Given the description of an element on the screen output the (x, y) to click on. 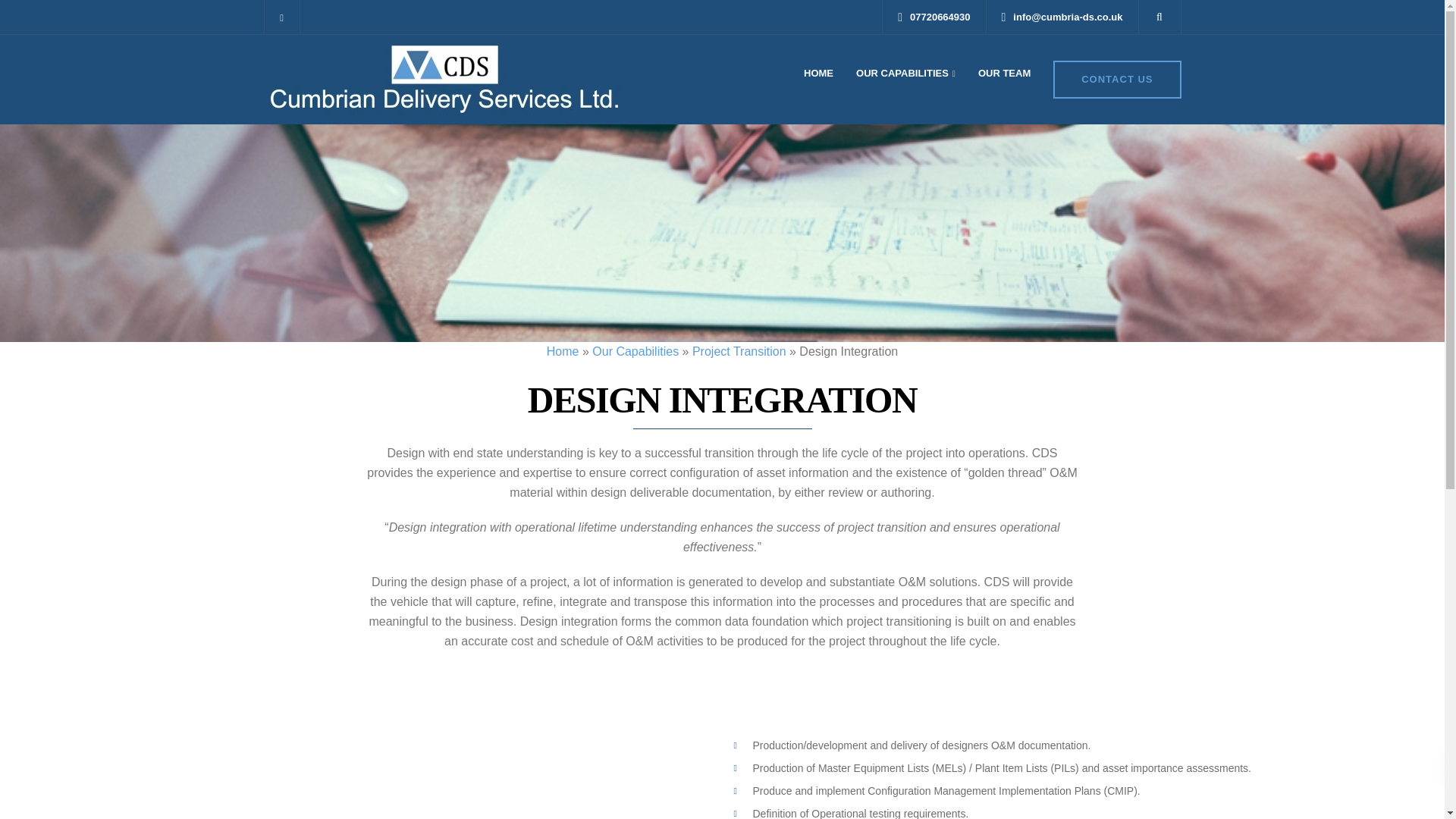
07720664930 (944, 16)
OUR CAPABILITIES (905, 73)
Our Capabilities (905, 73)
Project Transition (739, 350)
Operations Support (297, 673)
Project Transition (292, 715)
Asset and Project Handover (317, 609)
Home (563, 350)
Pre-Operations Support (307, 694)
Our Team (630, 609)
HOME (818, 73)
Maintenance Support (301, 651)
Our Capabilities (635, 350)
OUR TEAM (1004, 73)
Terms and conditions (657, 630)
